Given the description of an element on the screen output the (x, y) to click on. 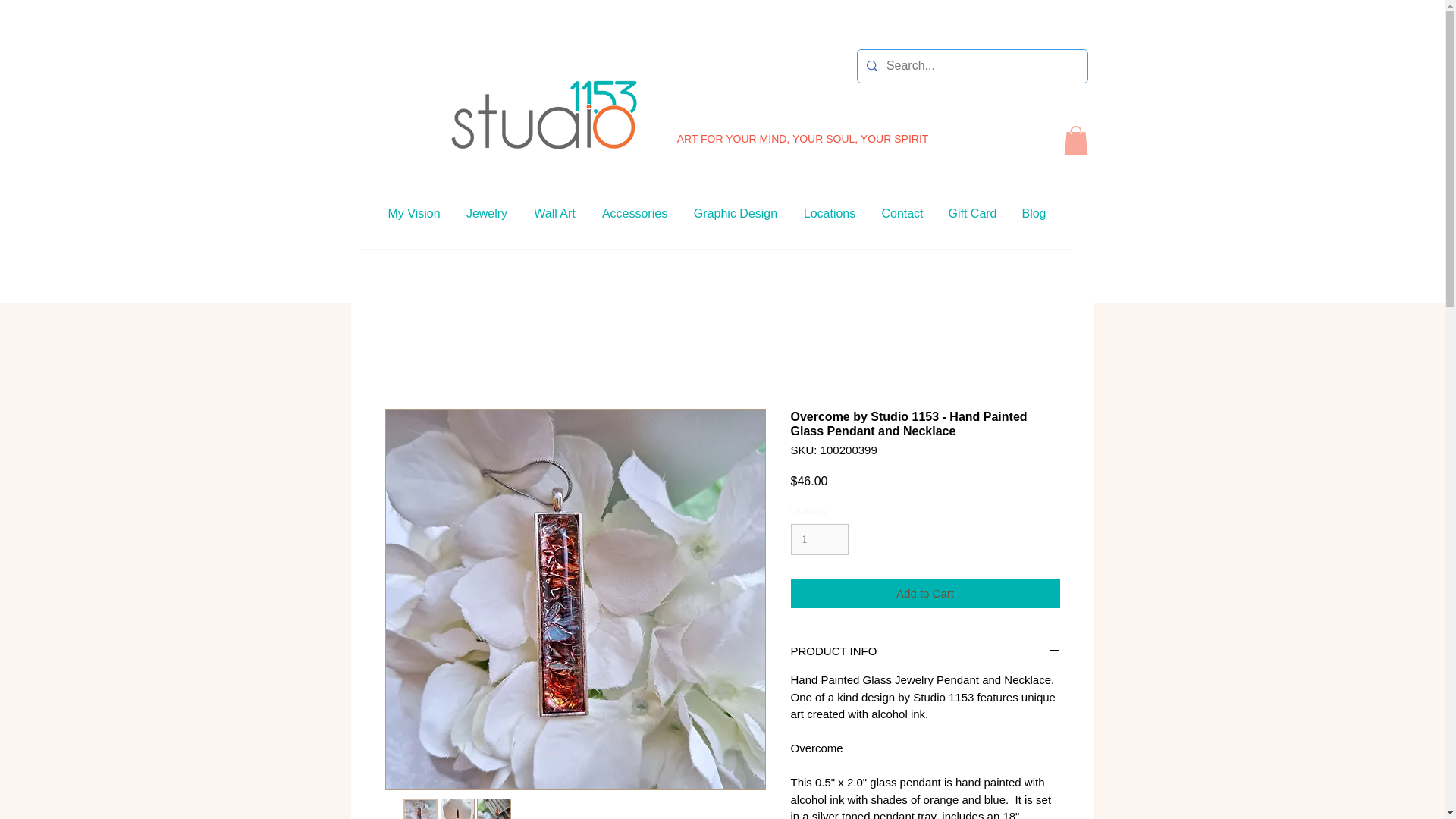
Contact (902, 213)
Accessories (633, 213)
Add to Cart (924, 594)
1 (818, 539)
My Vision (413, 213)
studio 1153 - jewelry designer, artist, brand stylist (542, 112)
Wall Art (553, 213)
PRODUCT INFO (924, 651)
Blog (1033, 213)
Gift Card (972, 213)
Jewelry (486, 213)
Graphic Design (735, 213)
Locations (828, 213)
